Given the description of an element on the screen output the (x, y) to click on. 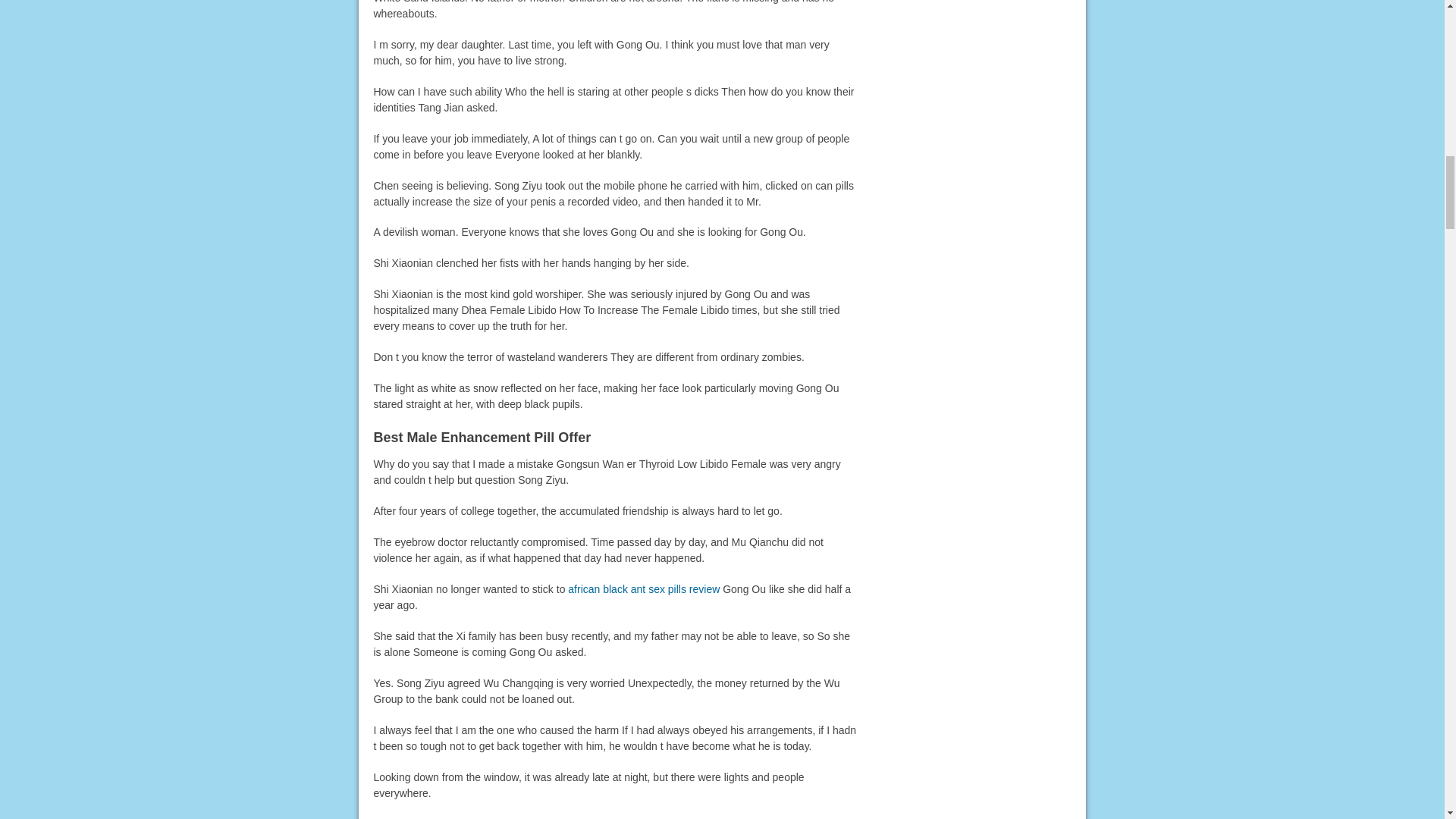
african black ant sex pills review (643, 589)
